Given the description of an element on the screen output the (x, y) to click on. 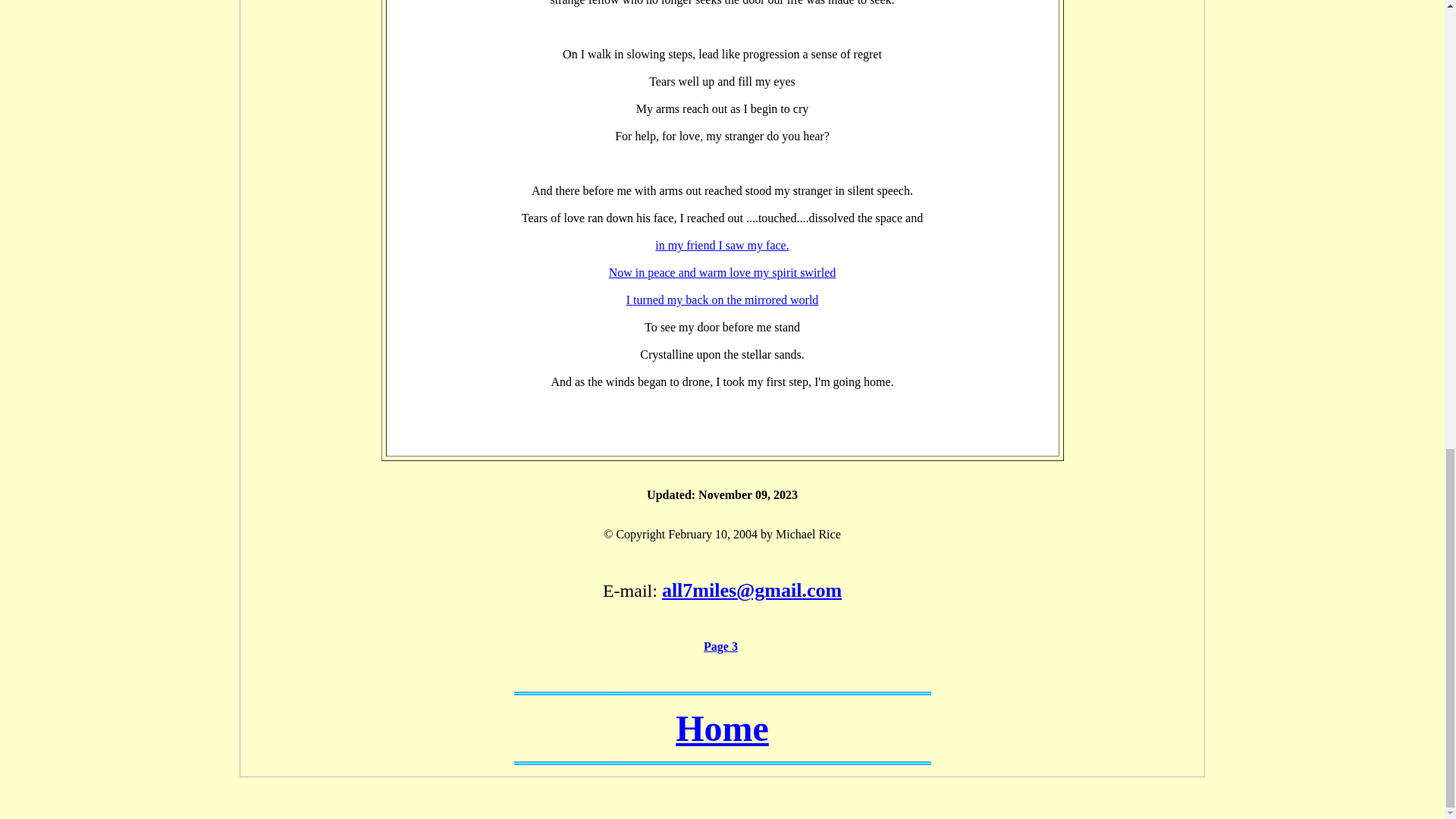
Home (721, 728)
Page 3 (720, 645)
